Given the description of an element on the screen output the (x, y) to click on. 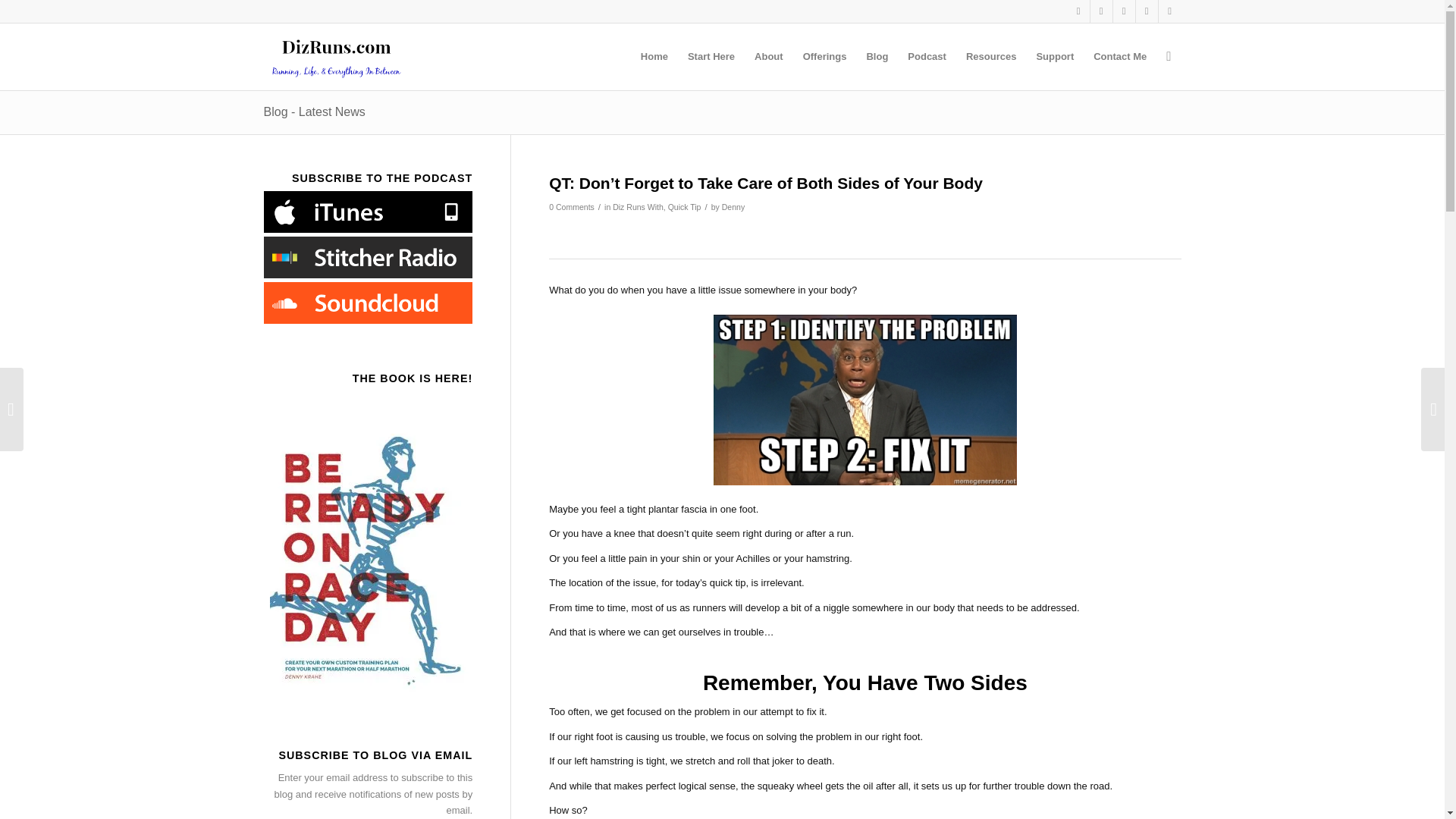
Instagram (1101, 11)
Offerings (825, 56)
Logo Trans (336, 56)
Blog - Latest News (314, 111)
Pinterest (1124, 11)
0 Comments (571, 206)
Diz Runs With (637, 206)
Facebook (1146, 11)
Resources (991, 56)
Denny (733, 206)
Quick Tip (684, 206)
Contact Me (1119, 56)
Start Here (711, 56)
Permanent Link: Blog - Latest News (314, 111)
Rss (1169, 11)
